Given the description of an element on the screen output the (x, y) to click on. 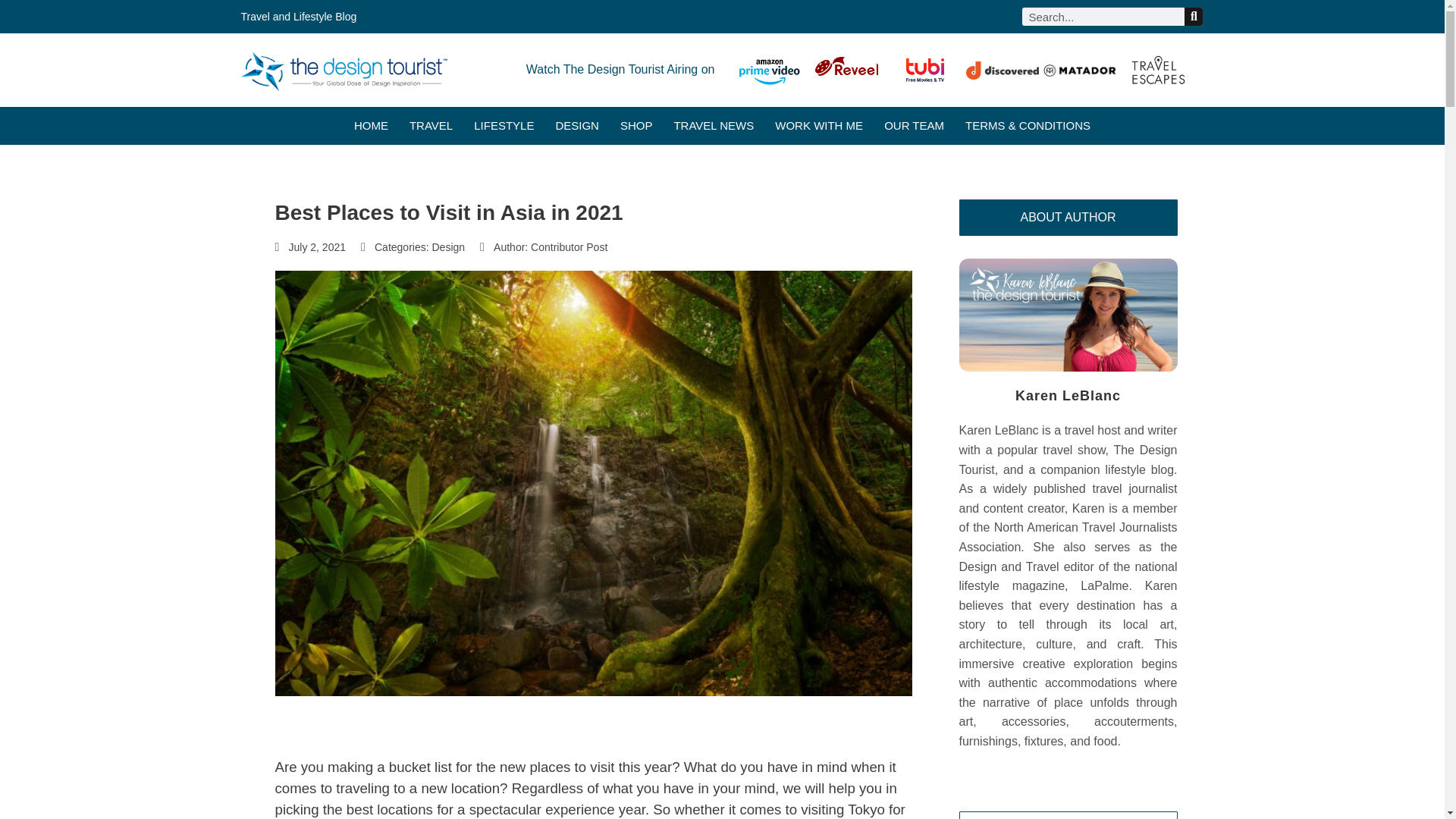
SHOP (636, 125)
OUR TEAM (913, 125)
TRAVEL NEWS (713, 125)
HOME (370, 125)
WORK WITH ME (818, 125)
DESIGN (576, 125)
TRAVEL (430, 125)
LIFESTYLE (504, 125)
